Given the description of an element on the screen output the (x, y) to click on. 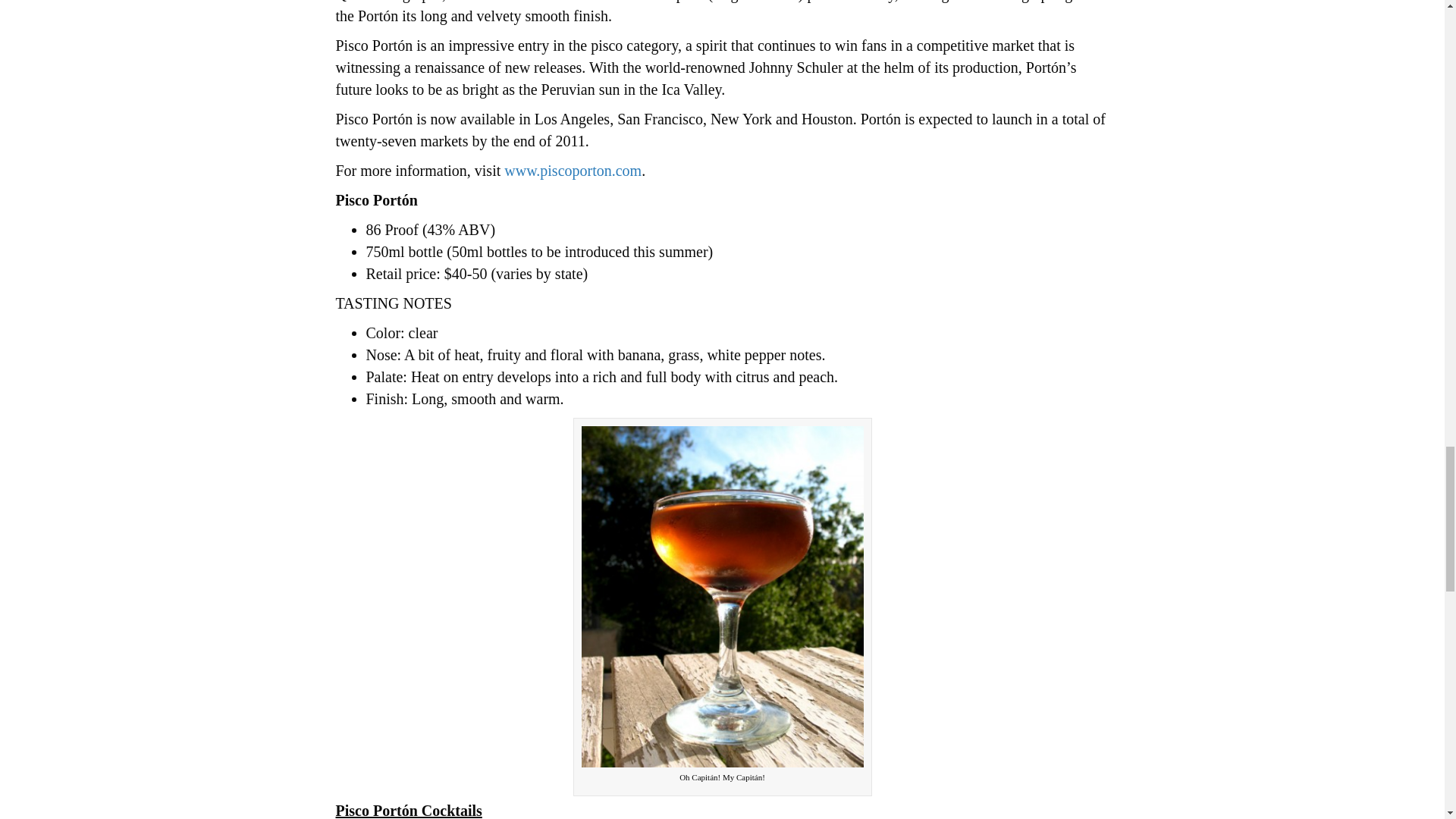
www.piscoporton.com (571, 170)
